Given the description of an element on the screen output the (x, y) to click on. 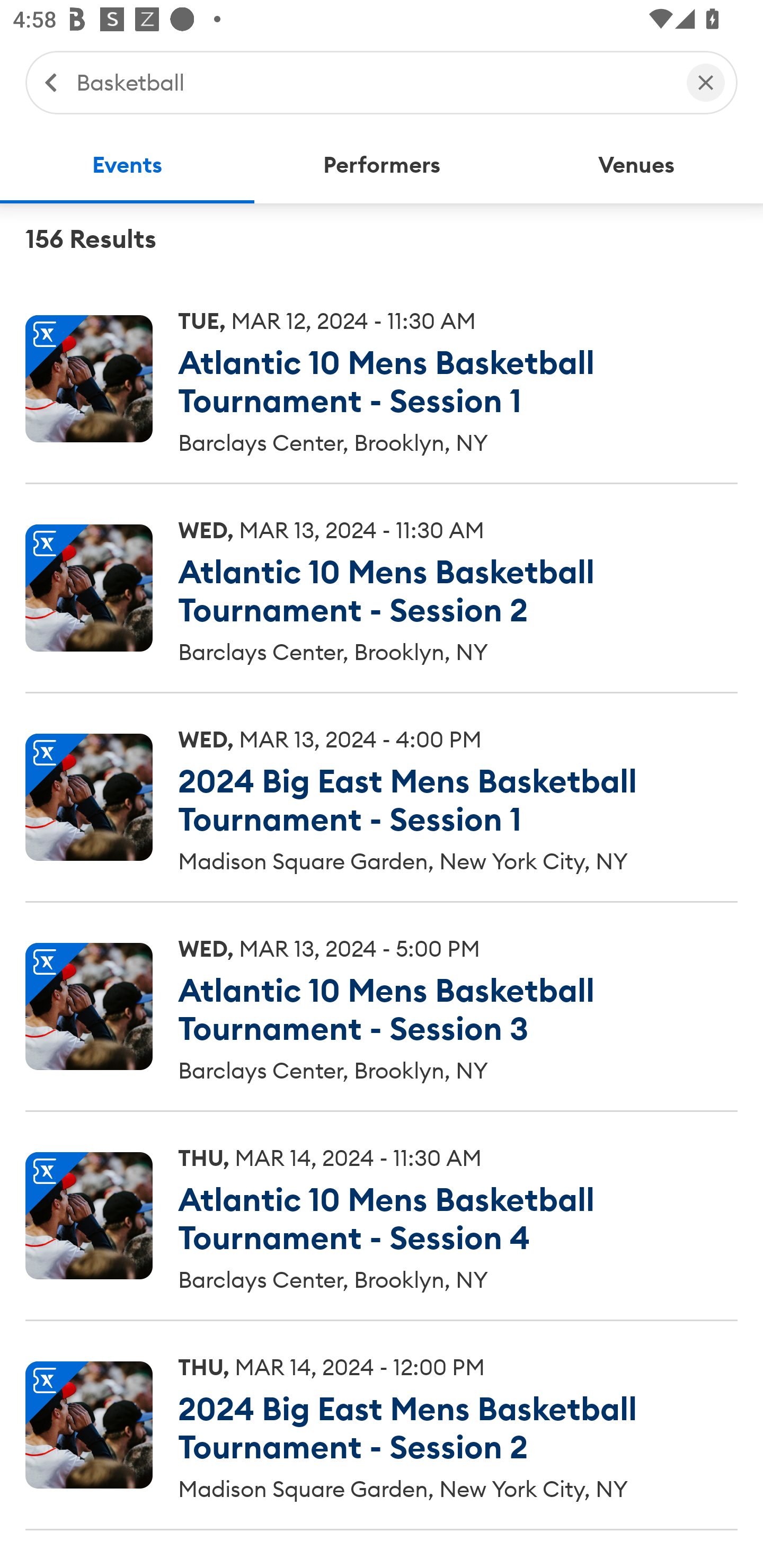
Basketball (371, 81)
Clear Search (705, 81)
Performers (381, 165)
Venues (635, 165)
